Given the description of an element on the screen output the (x, y) to click on. 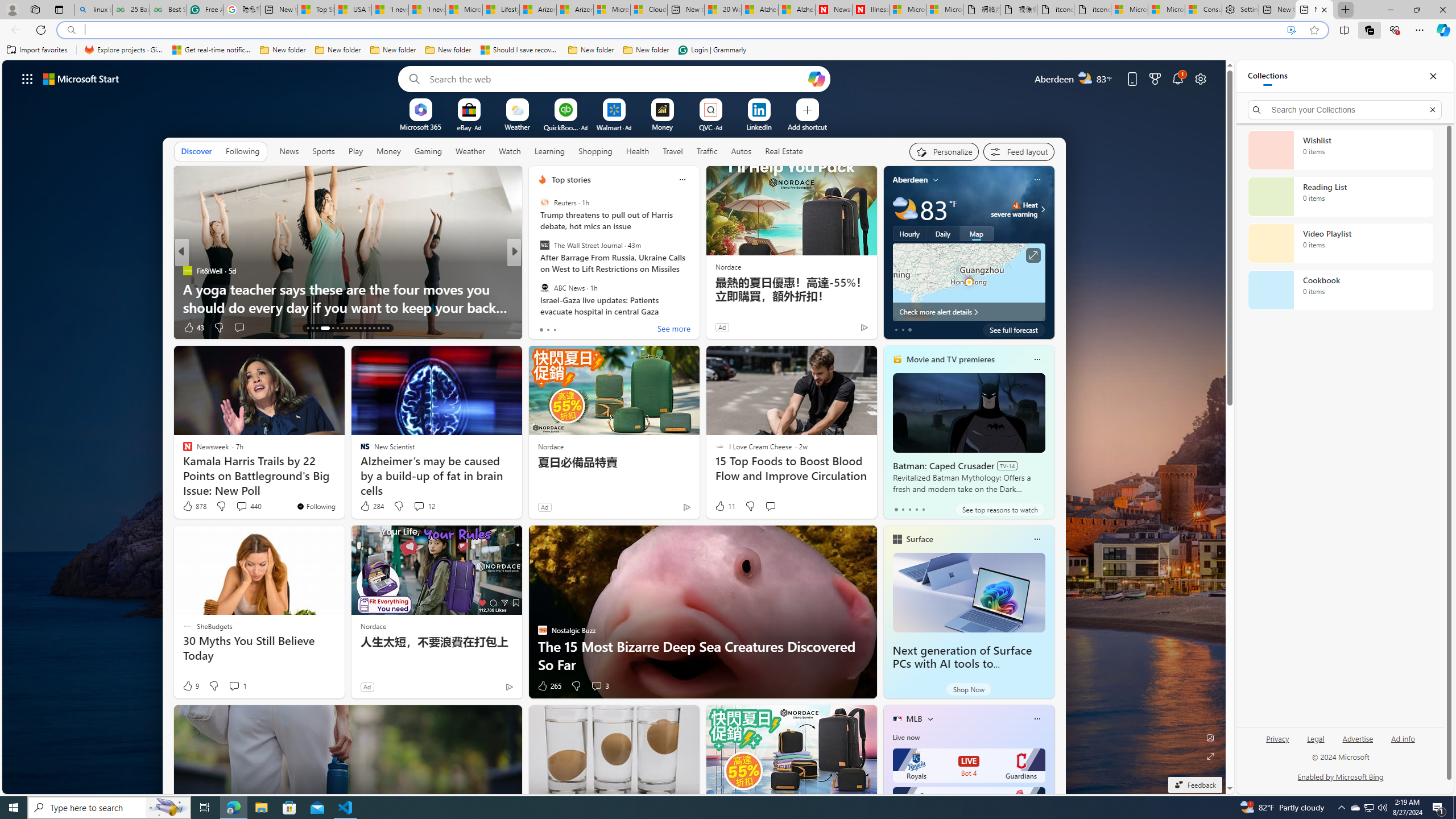
Travel (672, 151)
Login | Grammarly (712, 49)
Sports (323, 151)
linux basic - Search (92, 9)
Reading List collection, 0 items (1339, 196)
43 Like (192, 327)
Health (637, 151)
11 Like (724, 505)
25 Basic Linux Commands For Beginners - GeeksforGeeks (130, 9)
15 Creative Ways to Use Protein Powder in Your Diet (697, 307)
tab-3 (916, 509)
Discover Magazine (537, 270)
View comments 3 Comment (595, 685)
